Given the description of an element on the screen output the (x, y) to click on. 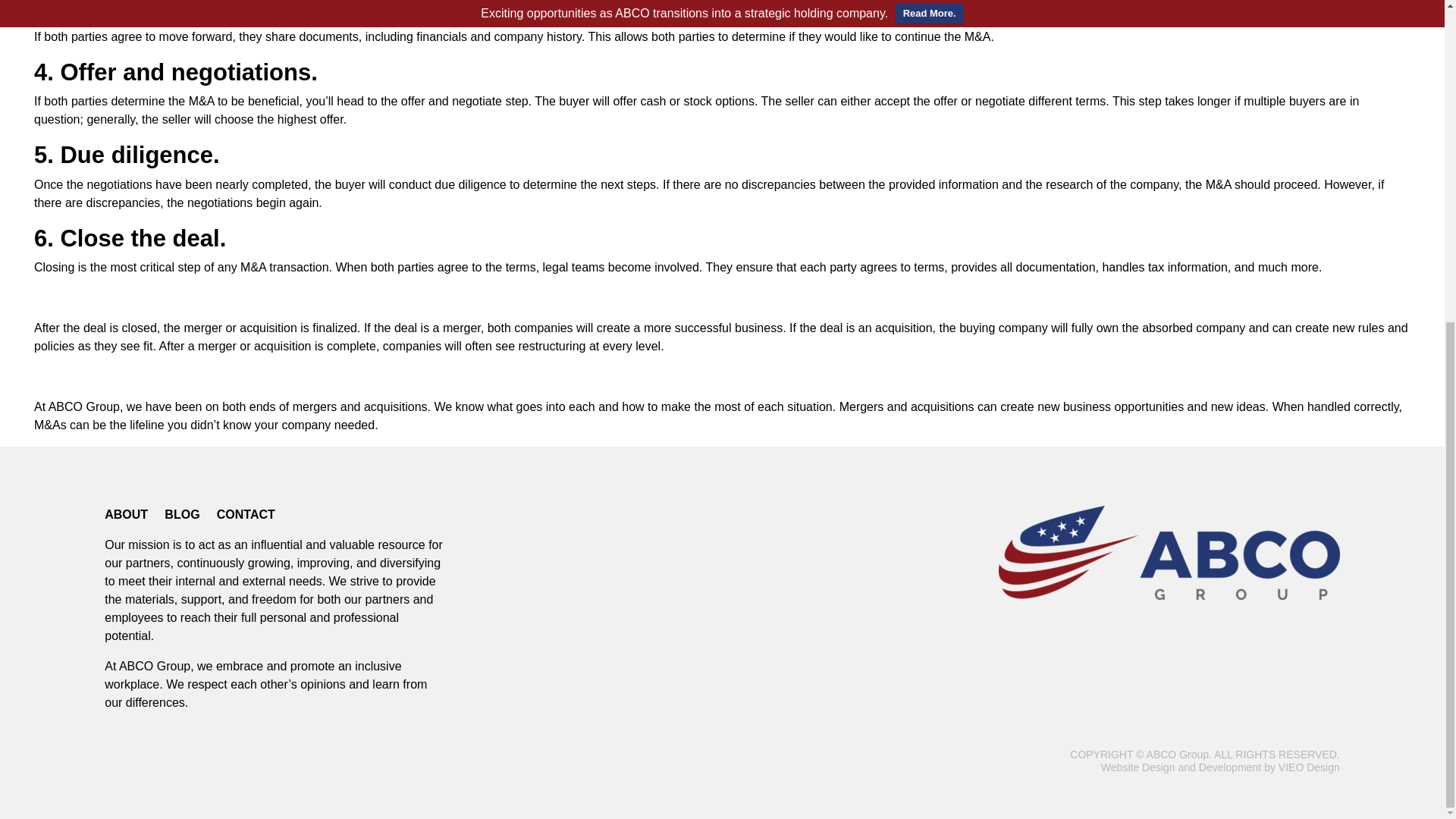
BLOG (181, 513)
Website Design and Development by VIEO Design (1219, 767)
Amercian Book Company Group business services logo (1168, 552)
Knoxville Website by VIEO Design (1219, 767)
CONTACT (245, 513)
ABOUT (126, 513)
